Given the description of an element on the screen output the (x, y) to click on. 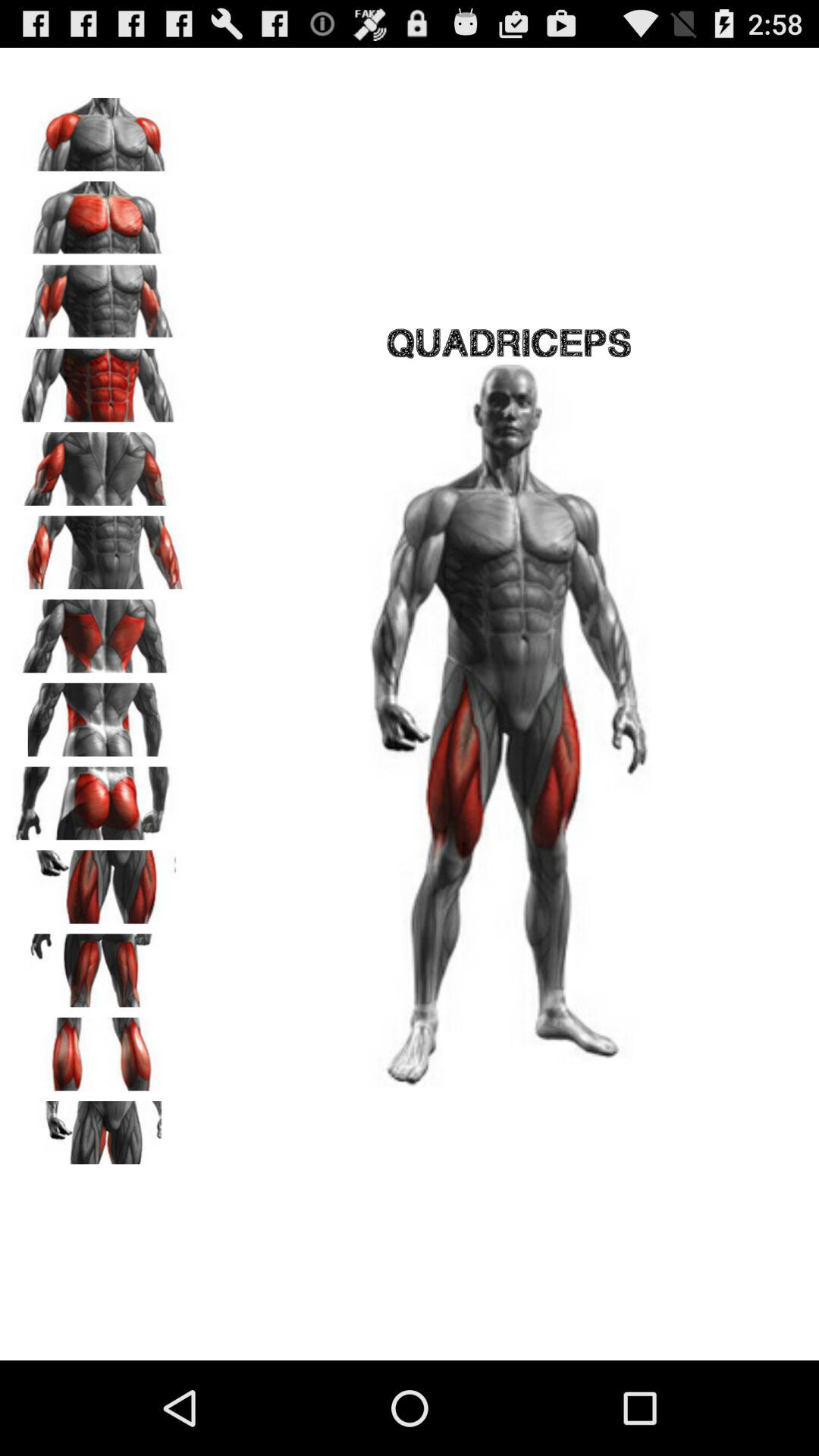
click back of side (99, 714)
